Given the description of an element on the screen output the (x, y) to click on. 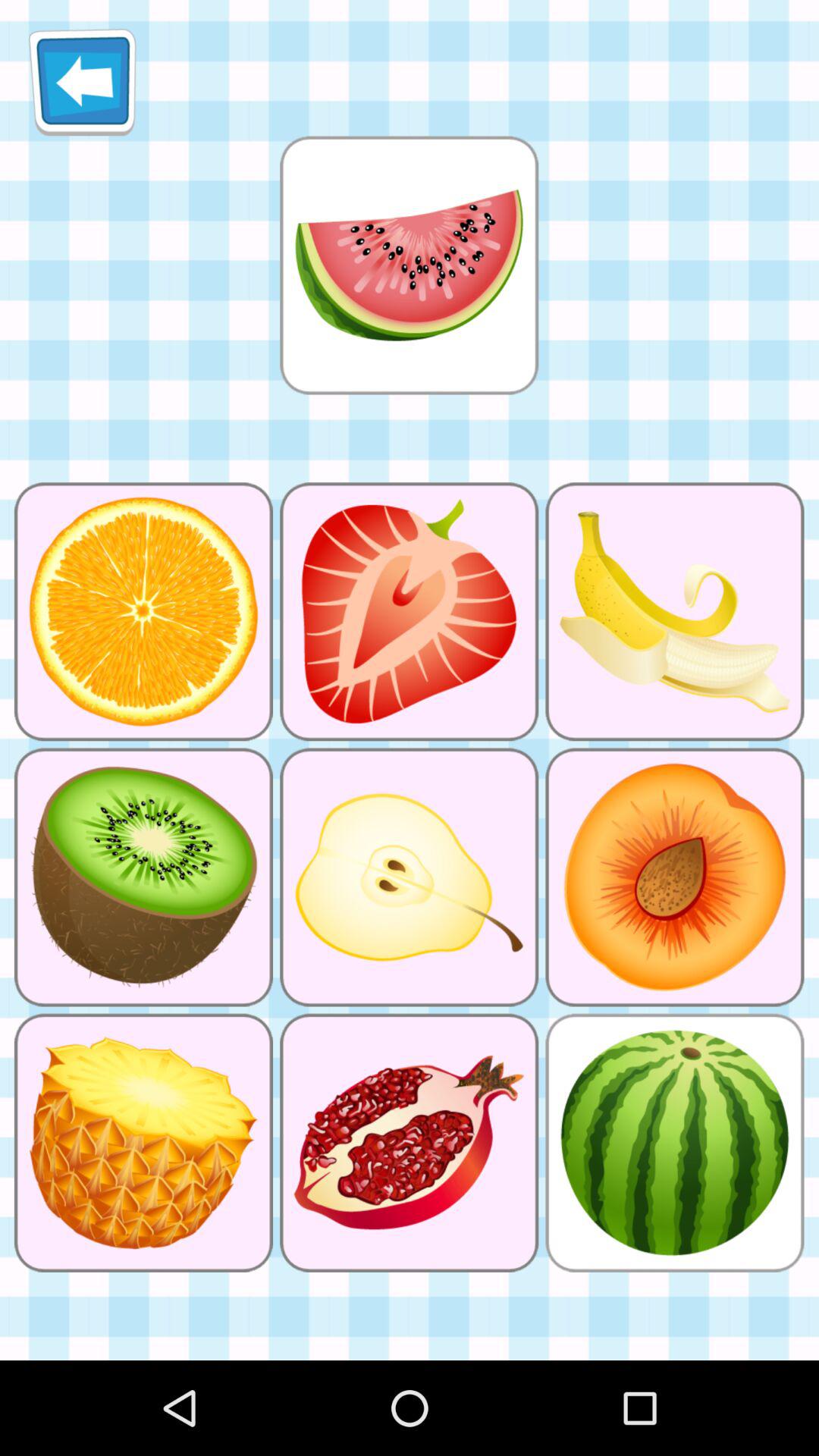
open the icon at the top left corner (82, 82)
